Given the description of an element on the screen output the (x, y) to click on. 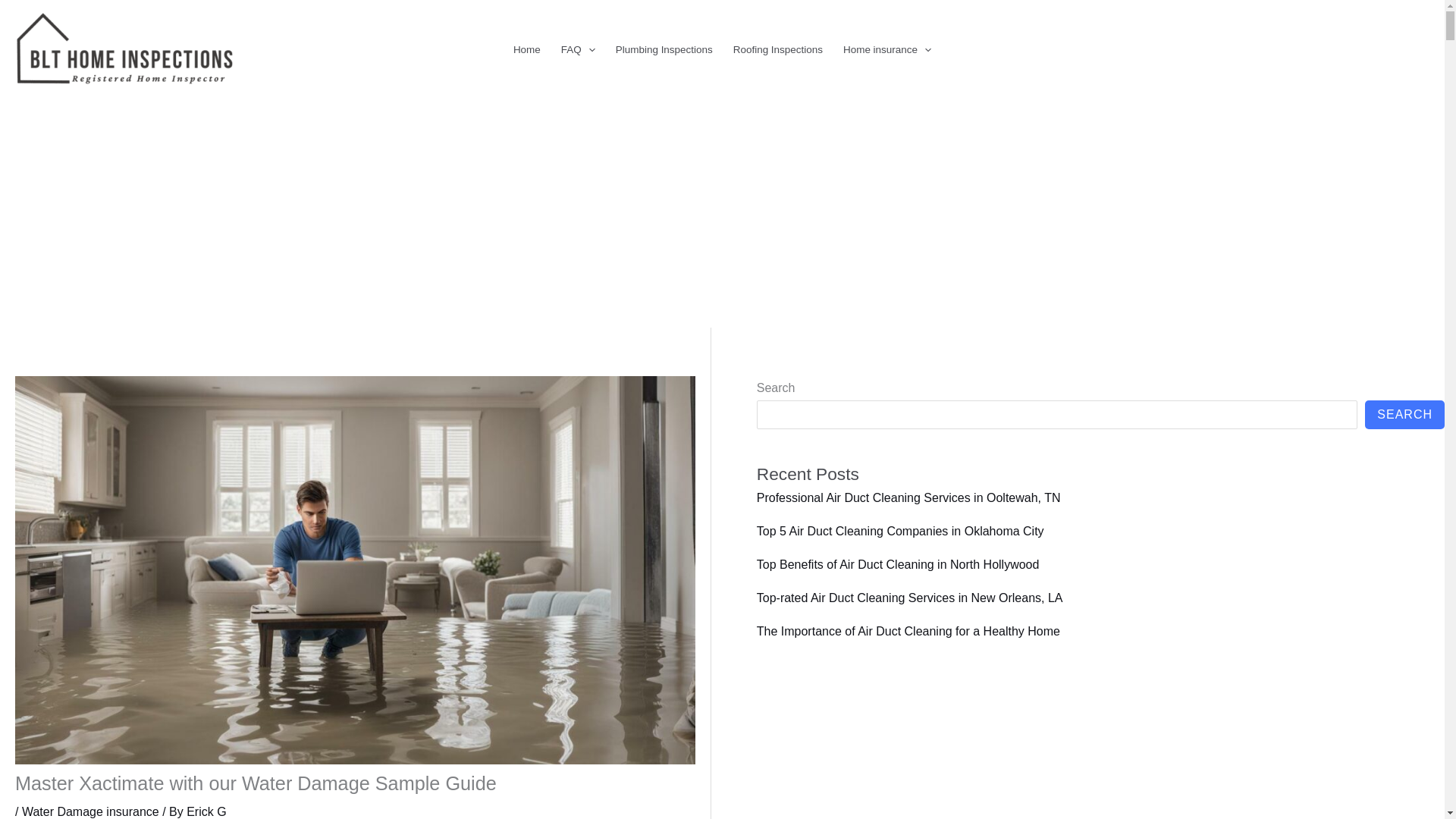
Home insurance (886, 50)
View all posts by Erick G (205, 811)
Roofing Inspections (777, 50)
Home (526, 50)
Erick G (205, 811)
Plumbing Inspections (663, 50)
FAQ (577, 50)
Water Damage insurance (89, 811)
